Given the description of an element on the screen output the (x, y) to click on. 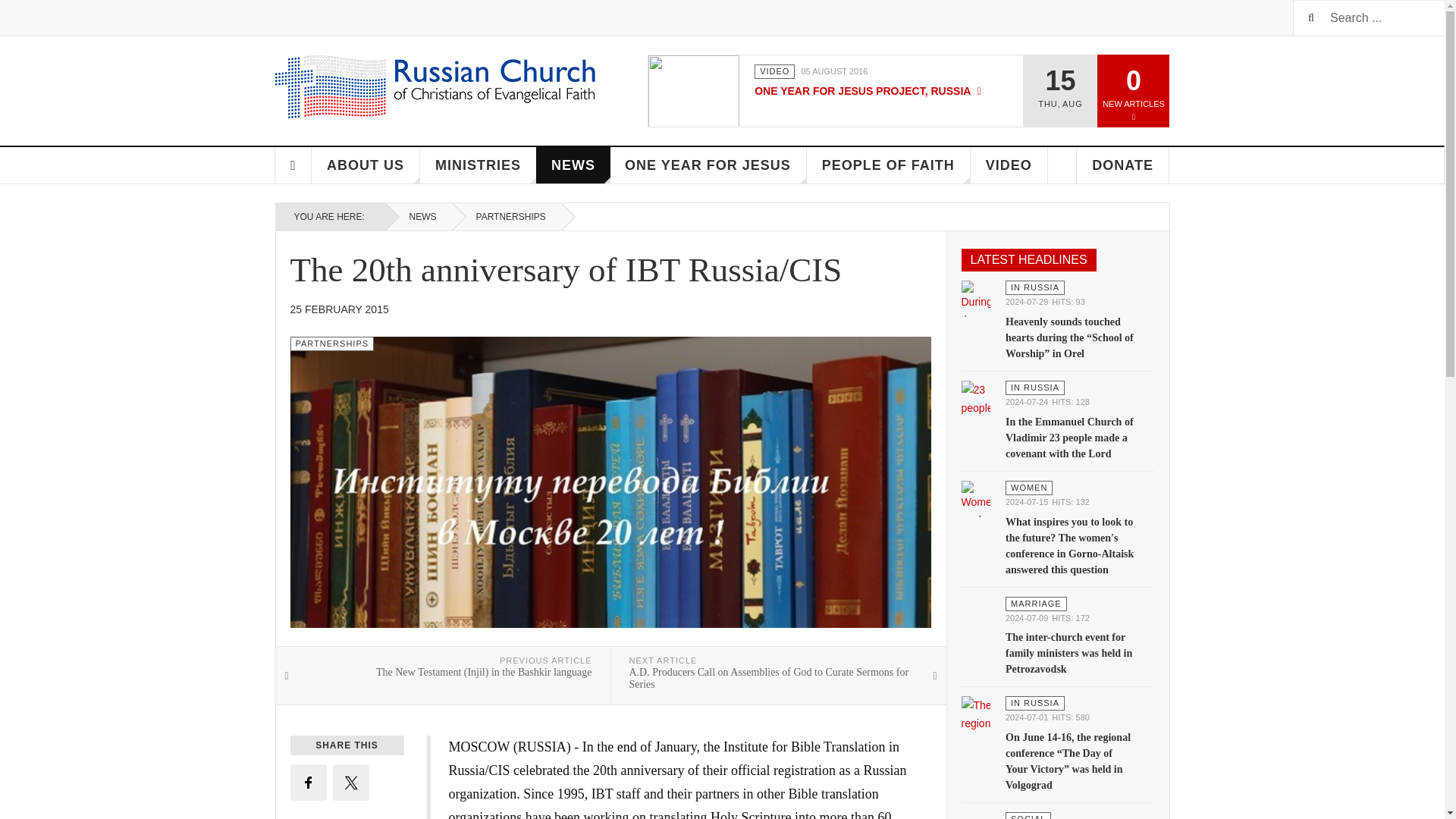
Category:  (1035, 287)
VIDEO (774, 71)
ABOUT US (365, 165)
Category:  (1035, 387)
Category:  (1029, 487)
Russian Church of Christians of Evangelical Faith (435, 85)
HOME (293, 165)
ONE YEAR FOR JESUS PROJECT, RUSSIA (867, 91)
Category:  (774, 71)
Category:  (331, 343)
